Given the description of an element on the screen output the (x, y) to click on. 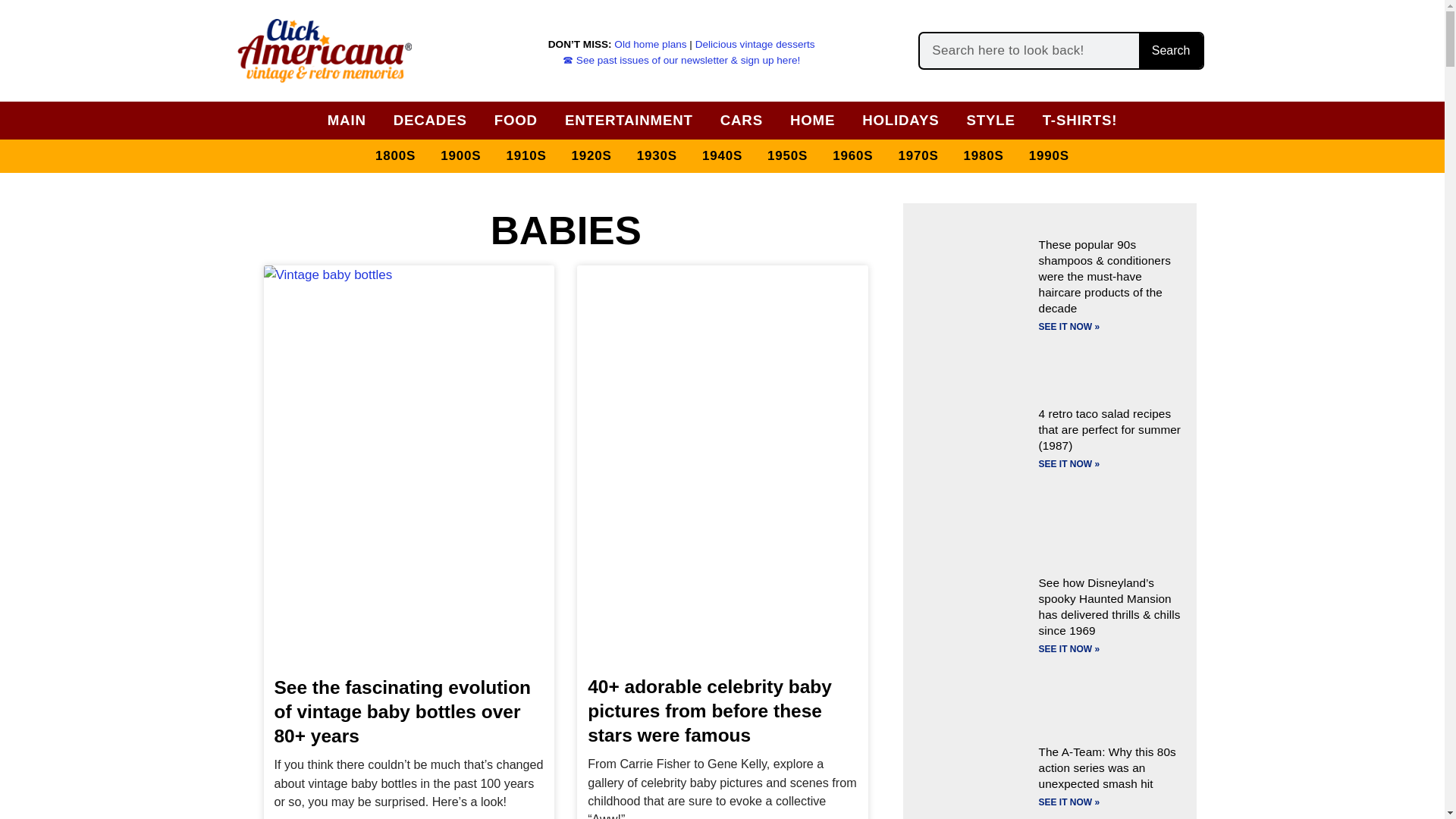
DECADES (430, 120)
Search (1170, 50)
MAIN (346, 120)
ENTERTAINMENT (628, 120)
1960S (853, 155)
1930S (656, 155)
FOOD (515, 120)
HOLIDAYS (900, 120)
STYLE (989, 120)
1970S (917, 155)
